Given the description of an element on the screen output the (x, y) to click on. 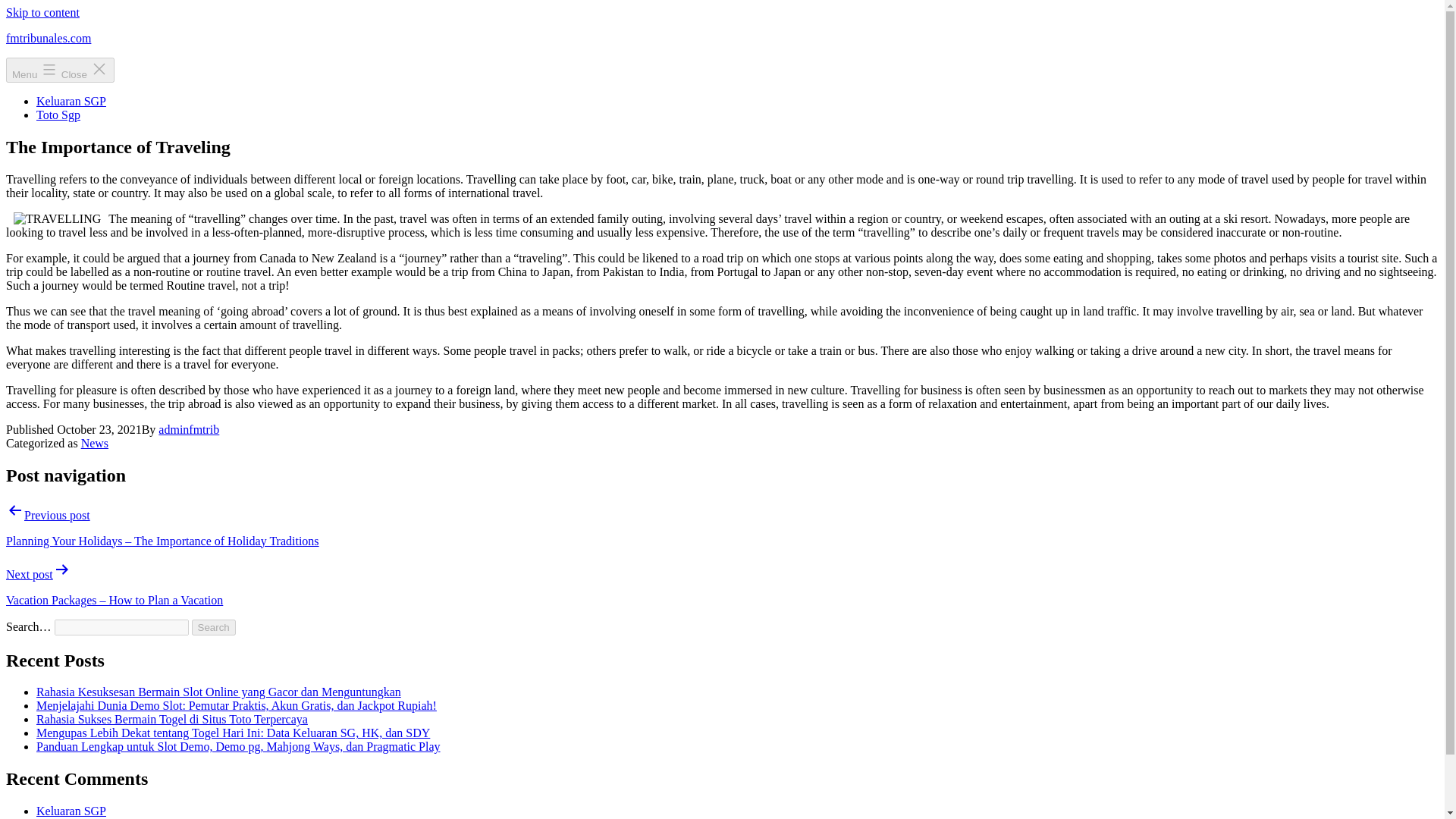
Skip to content (42, 11)
News (94, 442)
Menu Close (60, 69)
Search (213, 627)
Keluaran SGP (71, 810)
Toto Sgp (58, 114)
Search (213, 627)
Rahasia Sukses Bermain Togel di Situs Toto Terpercaya (171, 718)
fmtribunales.com (47, 38)
adminfmtrib (188, 429)
Keluaran SGP (71, 101)
Toto Sgp (58, 818)
